Given the description of an element on the screen output the (x, y) to click on. 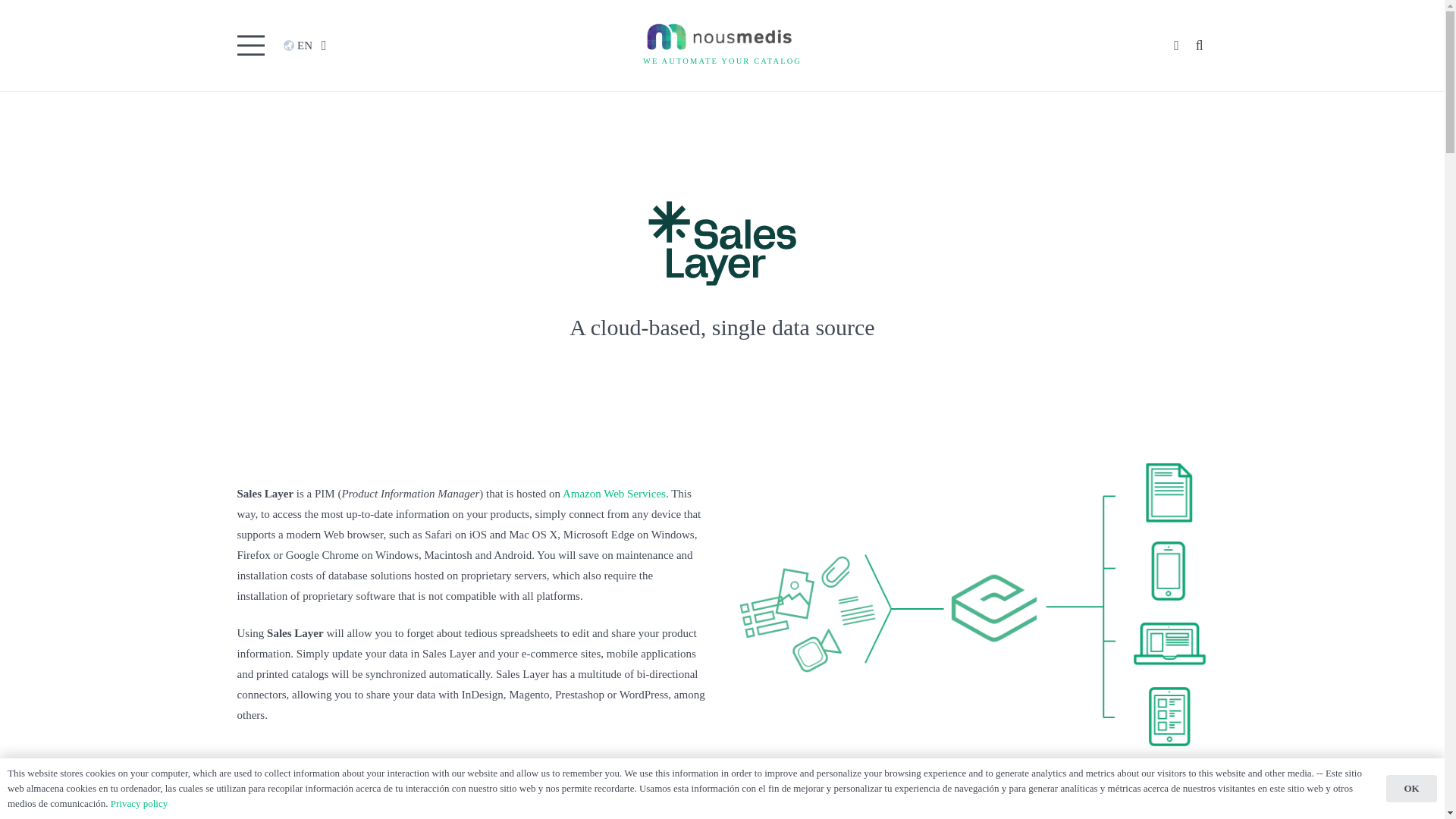
Get in touch with us (279, 663)
YouTube (331, 692)
LinkedIn (294, 692)
EN (310, 45)
Publications (260, 629)
About EasyCatalog (532, 612)
Who we are (260, 612)
Twitter (255, 692)
Amazon Web Services (613, 493)
Privacy policy (265, 646)
